Given the description of an element on the screen output the (x, y) to click on. 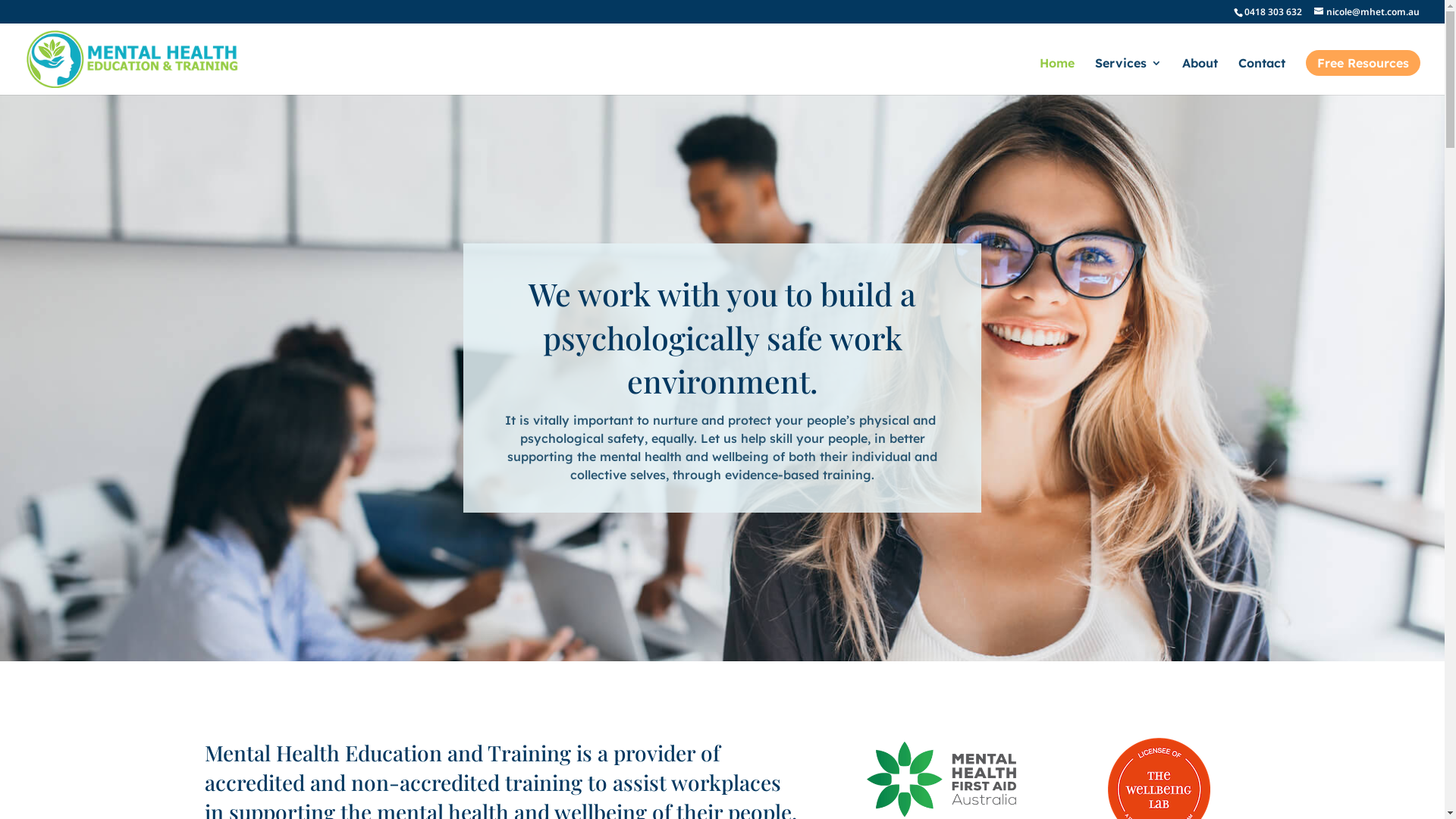
About Element type: text (1199, 75)
Services Element type: text (1128, 75)
nicole@mhet.com.au Element type: text (1366, 11)
Contact Element type: text (1261, 75)
Free Resources Element type: text (1362, 62)
Home Element type: text (1056, 75)
